Given the description of an element on the screen output the (x, y) to click on. 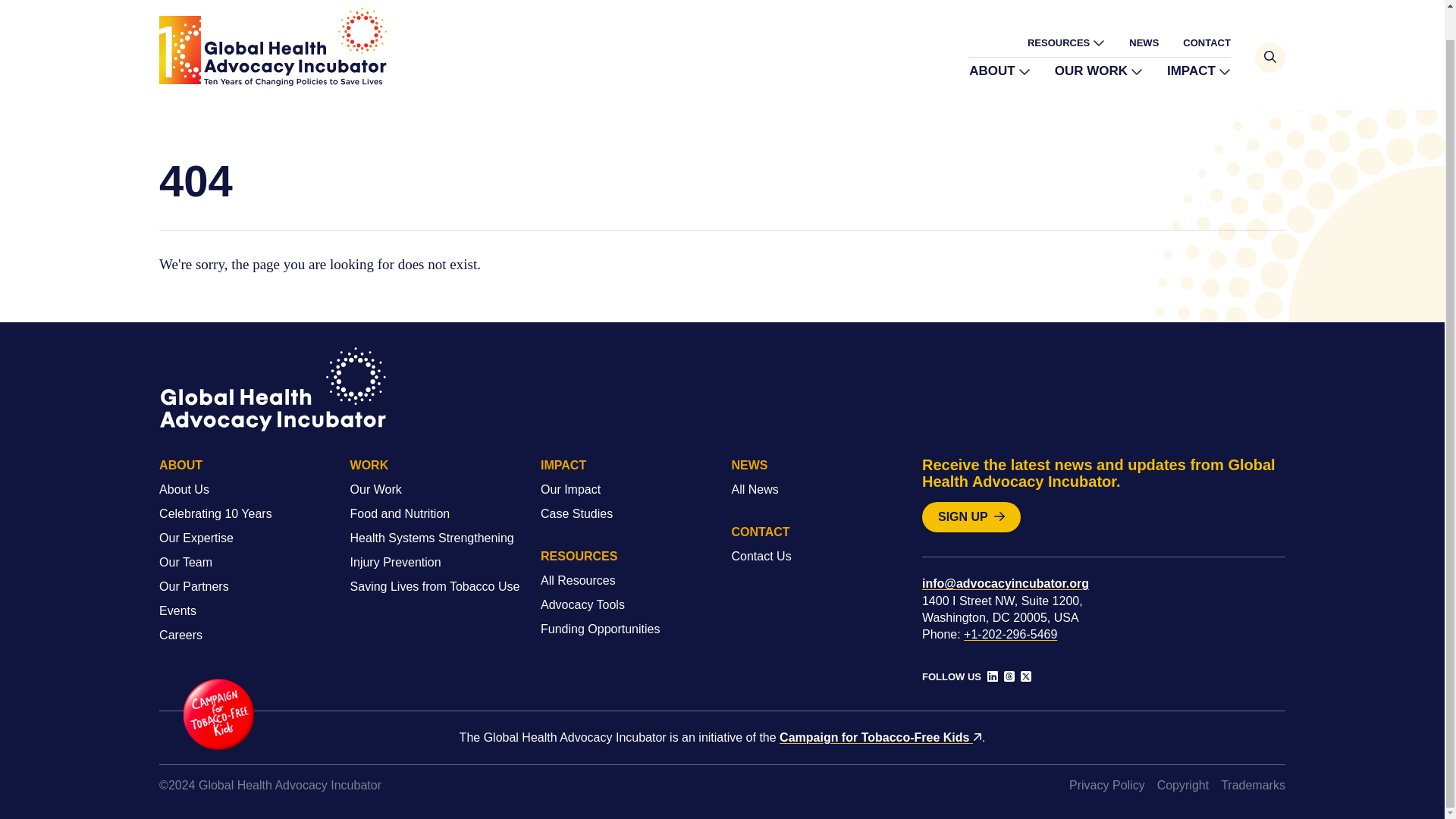
ABOUT (999, 71)
NEWS (1143, 42)
RESOURCES (1066, 42)
CONTACT (1206, 42)
OUR WORK (1098, 71)
Global Health Advocacy Incubator (272, 46)
